Given the description of an element on the screen output the (x, y) to click on. 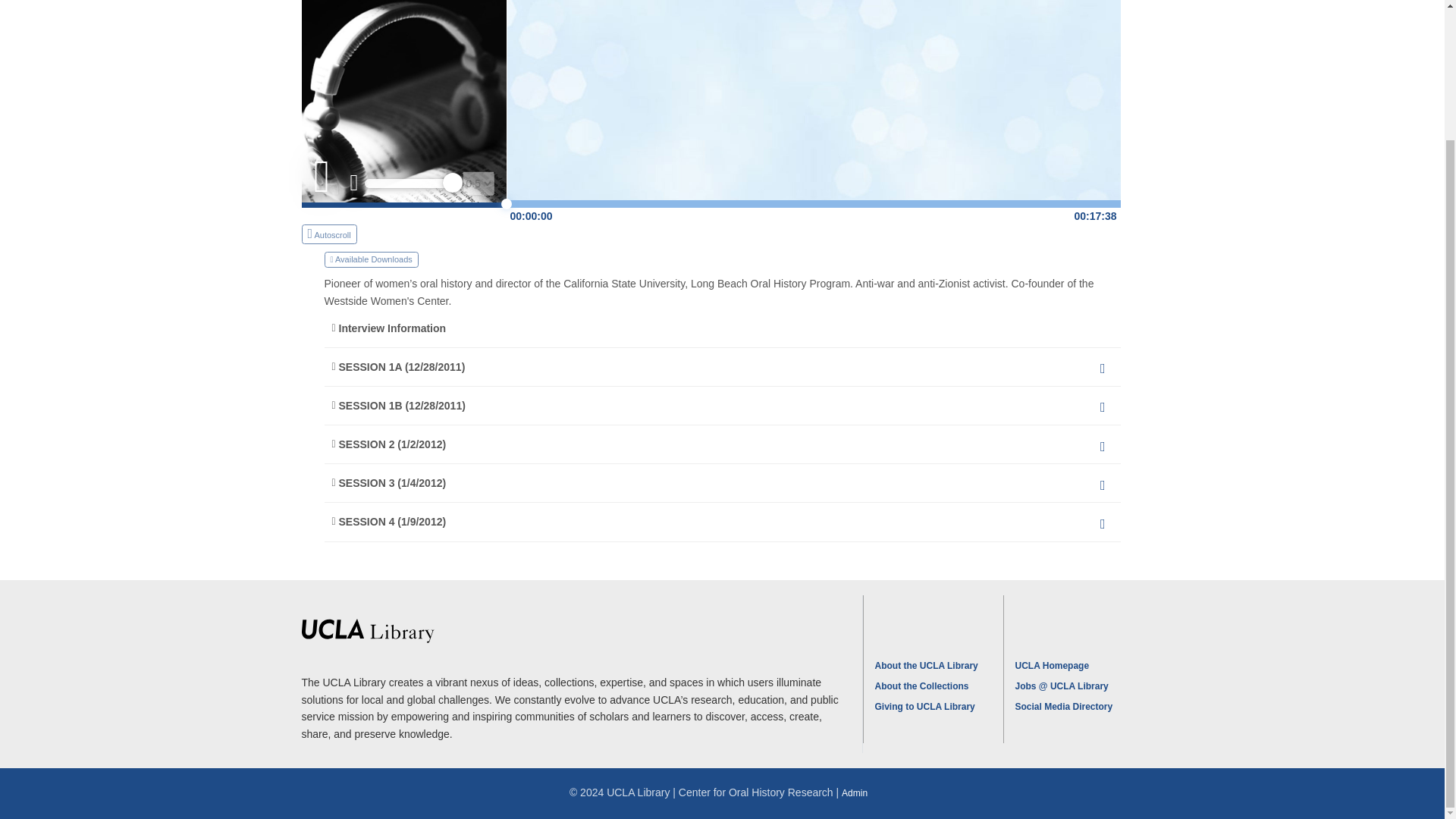
Available Downloads (716, 259)
Interview Information (722, 328)
 Autoscroll (403, 233)
1 (412, 183)
About the UCLA Library (926, 665)
 Autoscroll (328, 233)
Available Downloads (371, 259)
